Given the description of an element on the screen output the (x, y) to click on. 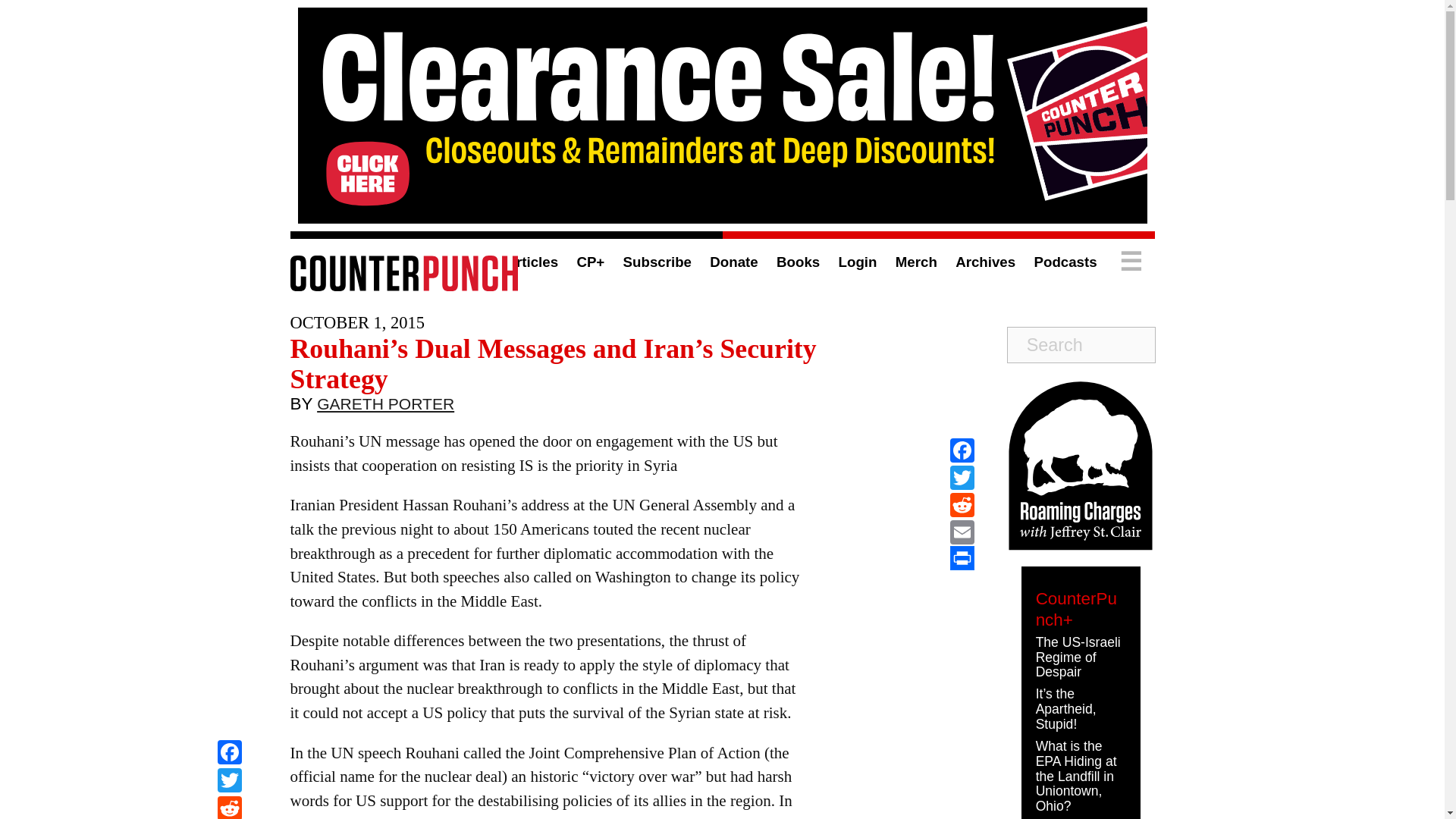
Facebook (229, 754)
Login (857, 261)
The US-Israeli Regime of Despair (1078, 657)
Twitter (962, 477)
Reddit (229, 807)
Twitter (229, 782)
GARETH PORTER (385, 407)
Facebook (962, 450)
What is the EPA Hiding at the Landfill in Uniontown, Ohio? (1075, 776)
2015-10-01 (356, 322)
Reddit (962, 504)
Archives (984, 261)
Subscribe (657, 261)
Reddit (229, 807)
Podcasts (1064, 261)
